Given the description of an element on the screen output the (x, y) to click on. 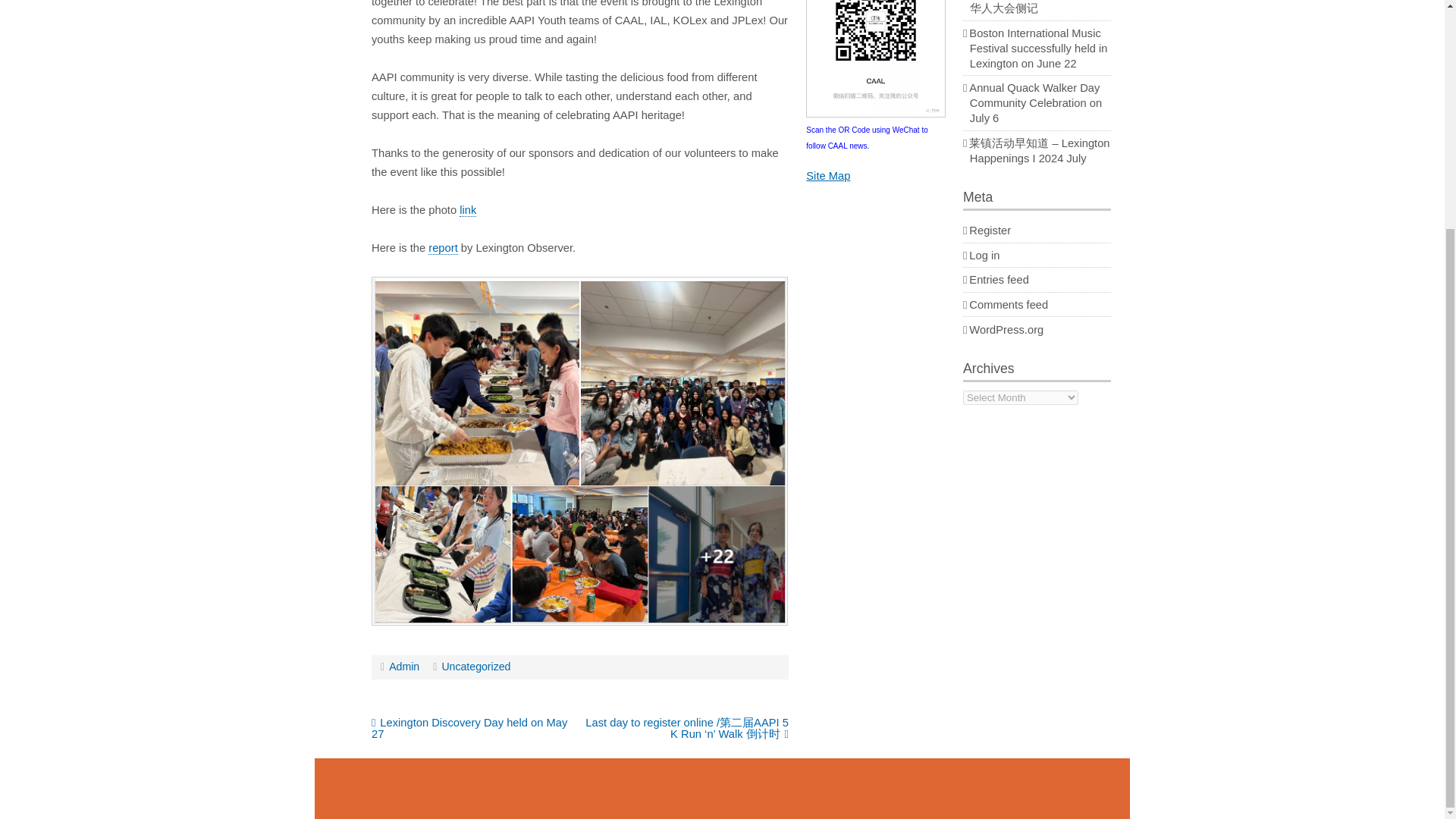
report (442, 247)
Admin (403, 666)
Uncategorized (475, 666)
Lexington Discovery Day held on May 27 (469, 728)
Site Map (828, 175)
link (468, 210)
